Given the description of an element on the screen output the (x, y) to click on. 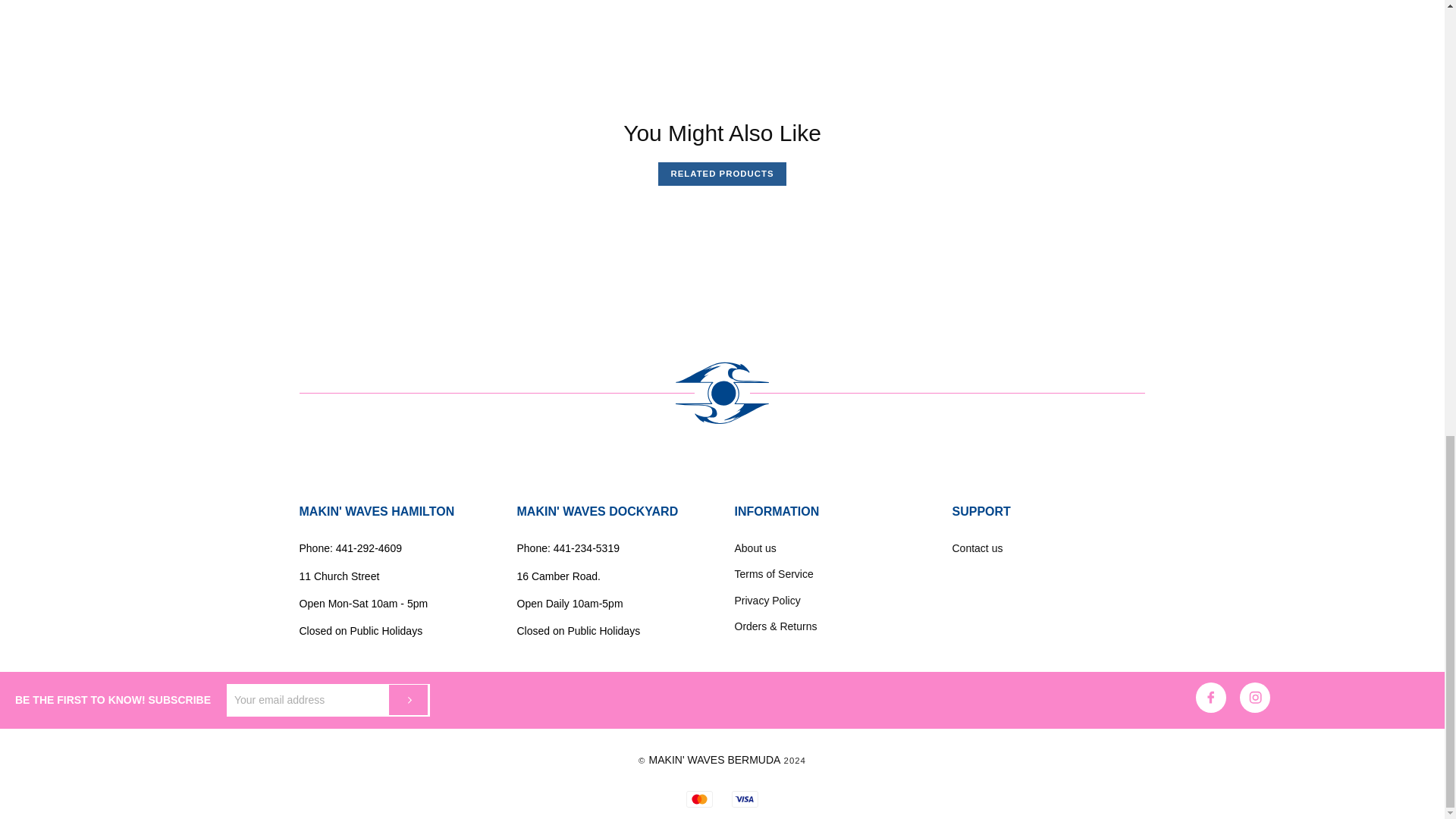
MASTERCARD (699, 799)
VISA (745, 799)
RELATED PRODUCTS (721, 173)
